Given the description of an element on the screen output the (x, y) to click on. 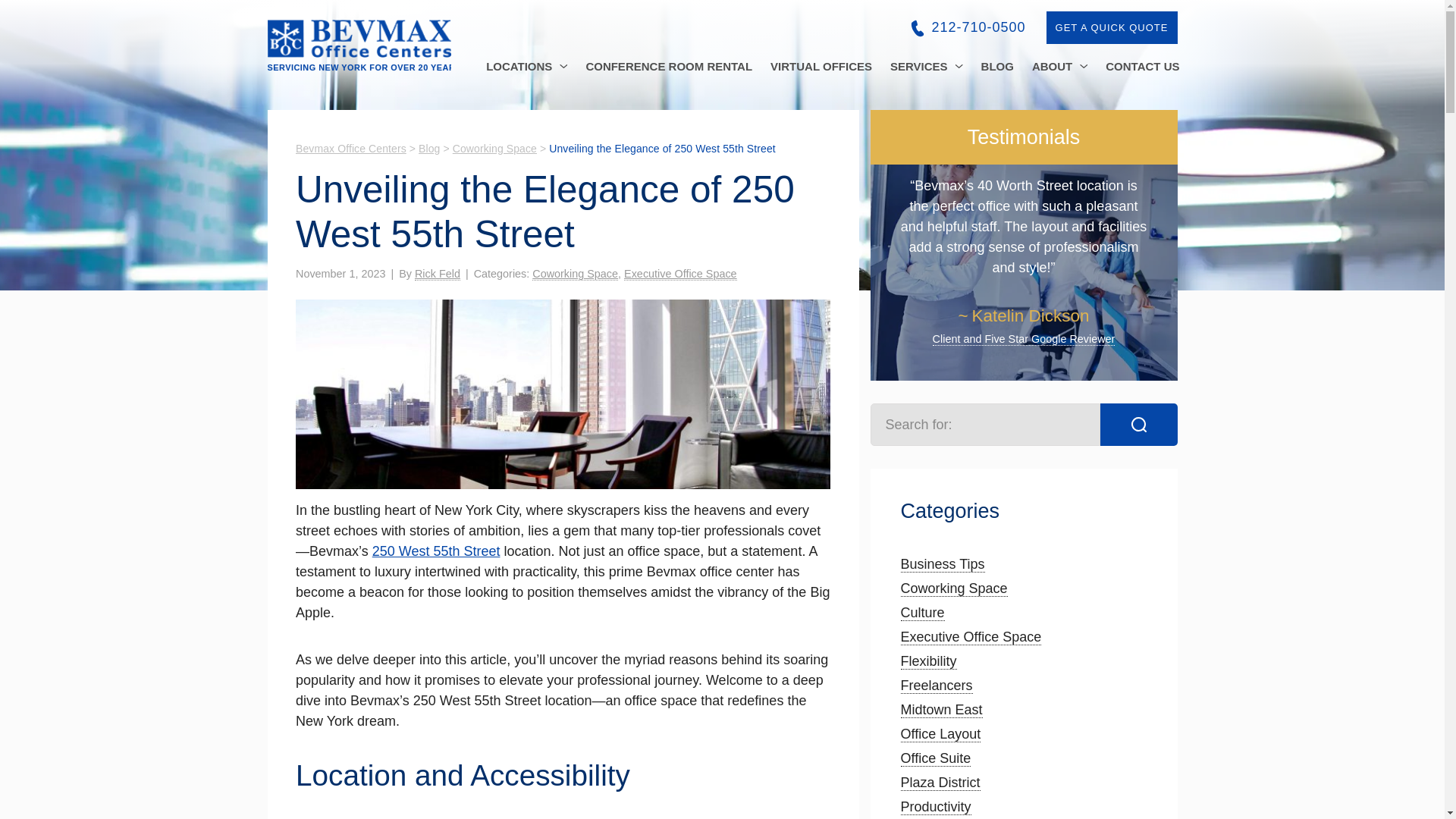
VIRTUAL OFFICES (820, 65)
GET A QUICK QUOTE (1111, 27)
Go to the Coworking Space category archives. (494, 148)
Go to Bevmax Office Centers. (350, 148)
Executive Office Space (971, 637)
Midtown East (941, 709)
Coworking Space (954, 588)
Go to Blog. (429, 148)
Bevmax Office Centers (350, 148)
Culture (922, 612)
CONFERENCE ROOM RENTAL (668, 65)
ABOUT (1059, 65)
BLOG (997, 65)
Executive Office Space (680, 273)
SERVICES (926, 65)
